Given the description of an element on the screen output the (x, y) to click on. 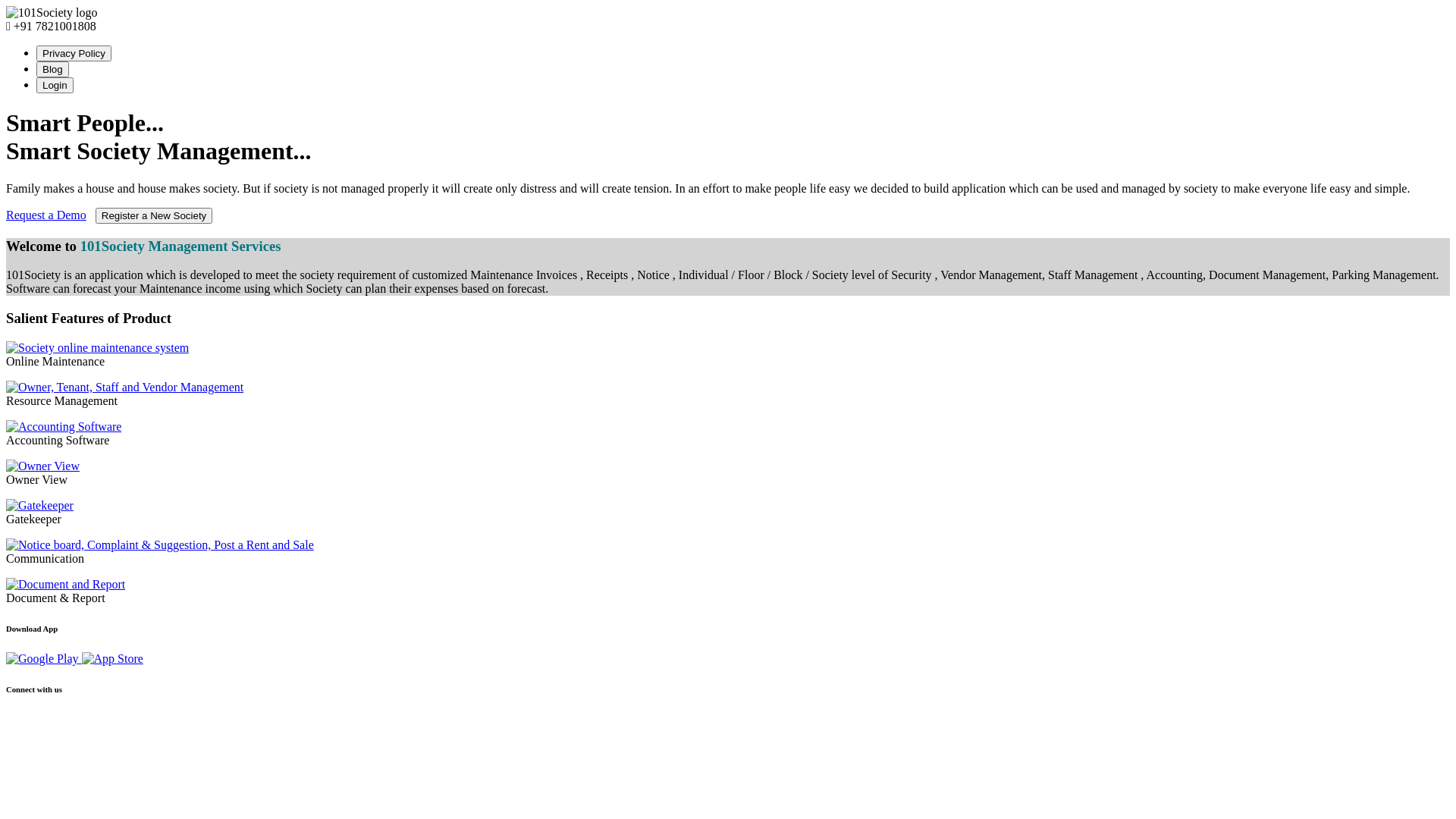
Request a Demo Element type: text (46, 214)
Register a New Society Element type: text (154, 215)
101Society App Element type: hover (51, 12)
Owner View Element type: hover (42, 466)
Privacy Policy Element type: text (73, 53)
Document and Report Element type: hover (65, 584)
Notice board, Complaint and Suggestion, Post a Rent and Sale Element type: hover (159, 545)
101Society on App Store Element type: hover (112, 658)
Login Element type: text (54, 85)
101Society on App Store Element type: hover (112, 658)
Gatekeeper Element type: hover (39, 505)
Apartment App - 101Society on Play Store Element type: hover (42, 658)
Owner, Tenant, Staff and Vendor Management Element type: hover (124, 387)
Apartment App - 101Society on Play Store Element type: hover (43, 658)
Accounting Software Element type: hover (63, 426)
Blog Element type: text (52, 69)
Society online maintenance software Element type: hover (97, 347)
